Given the description of an element on the screen output the (x, y) to click on. 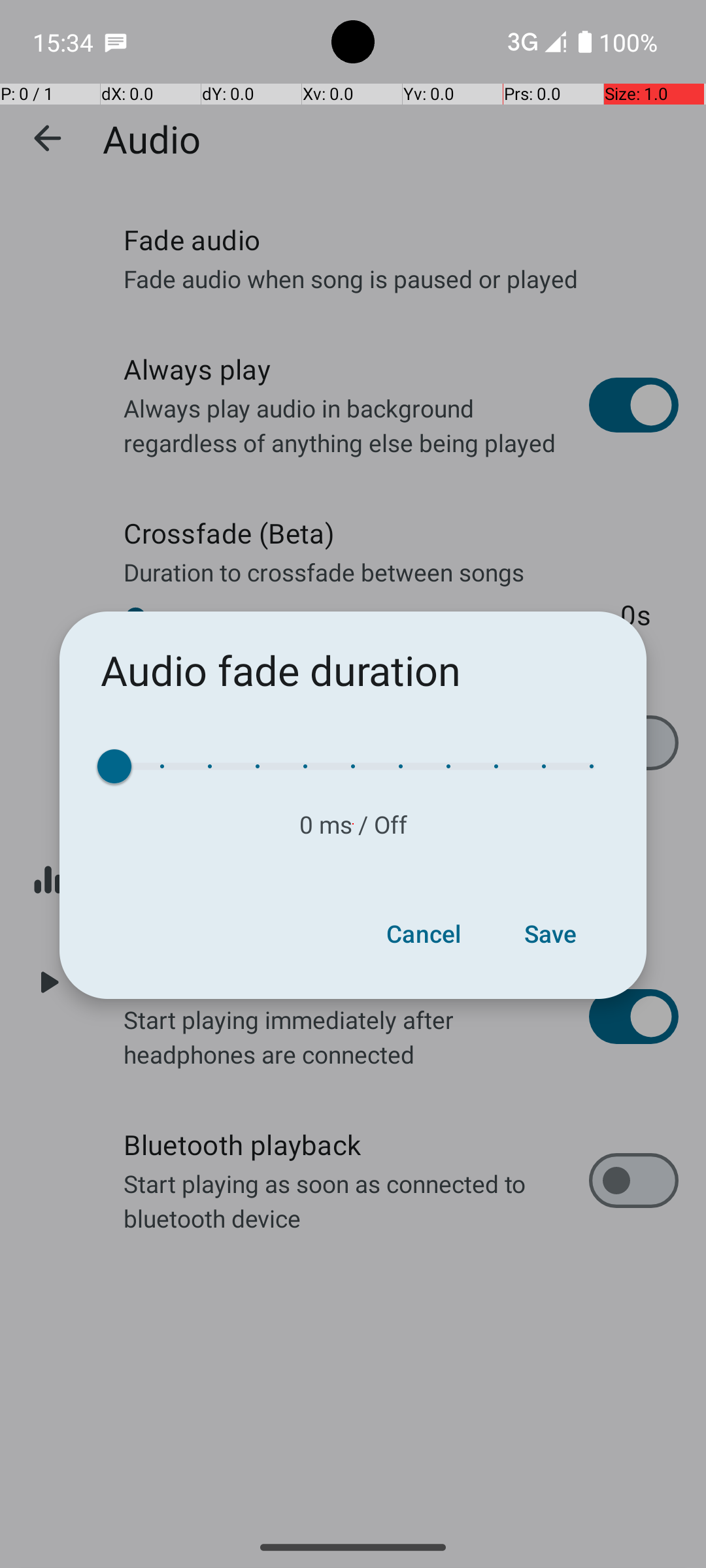
Audio fade duration Element type: android.widget.TextView (280, 669)
0 ms / Off Element type: android.widget.TextView (352, 823)
Value, 0 Element type: android.widget.SeekBar (120, 766)
